Given the description of an element on the screen output the (x, y) to click on. 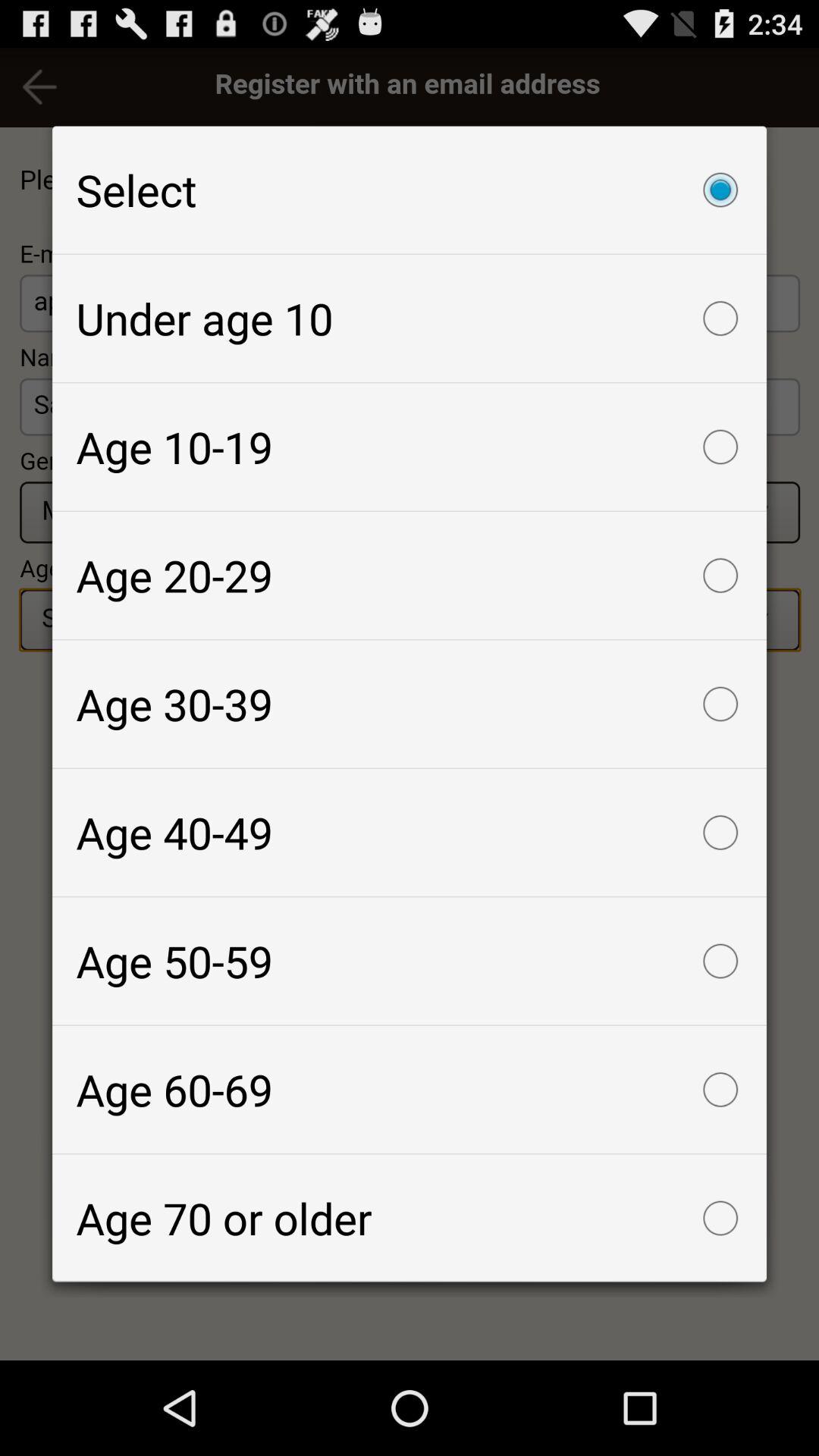
swipe to age 50-59 (409, 960)
